Given the description of an element on the screen output the (x, y) to click on. 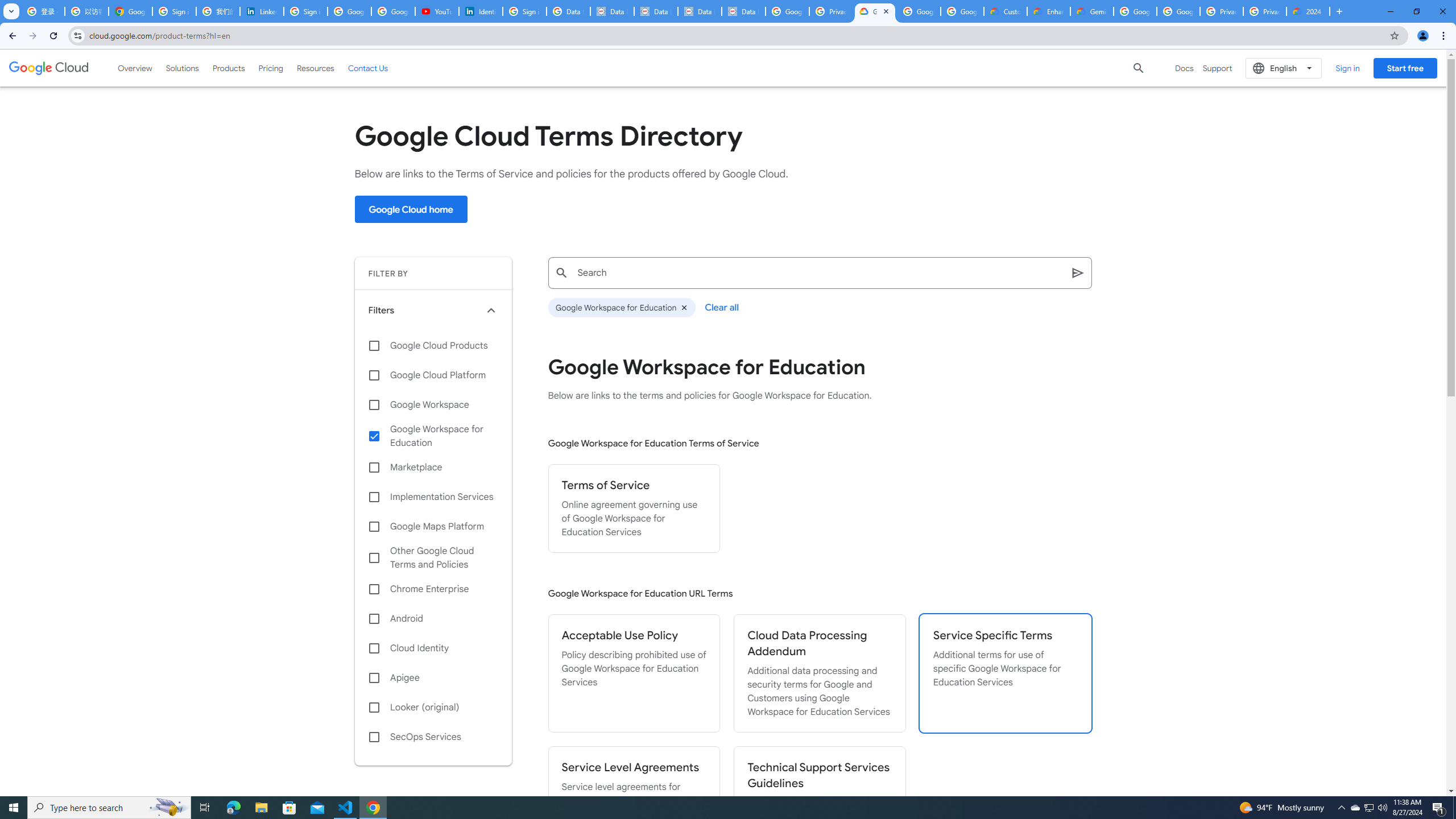
Google Workspace (432, 404)
Google Cloud Platform (1178, 11)
Data Privacy Framework (699, 11)
Gemini for Business and Developers | Google Cloud (1091, 11)
Sign in - Google Accounts (305, 11)
